Given the description of an element on the screen output the (x, y) to click on. 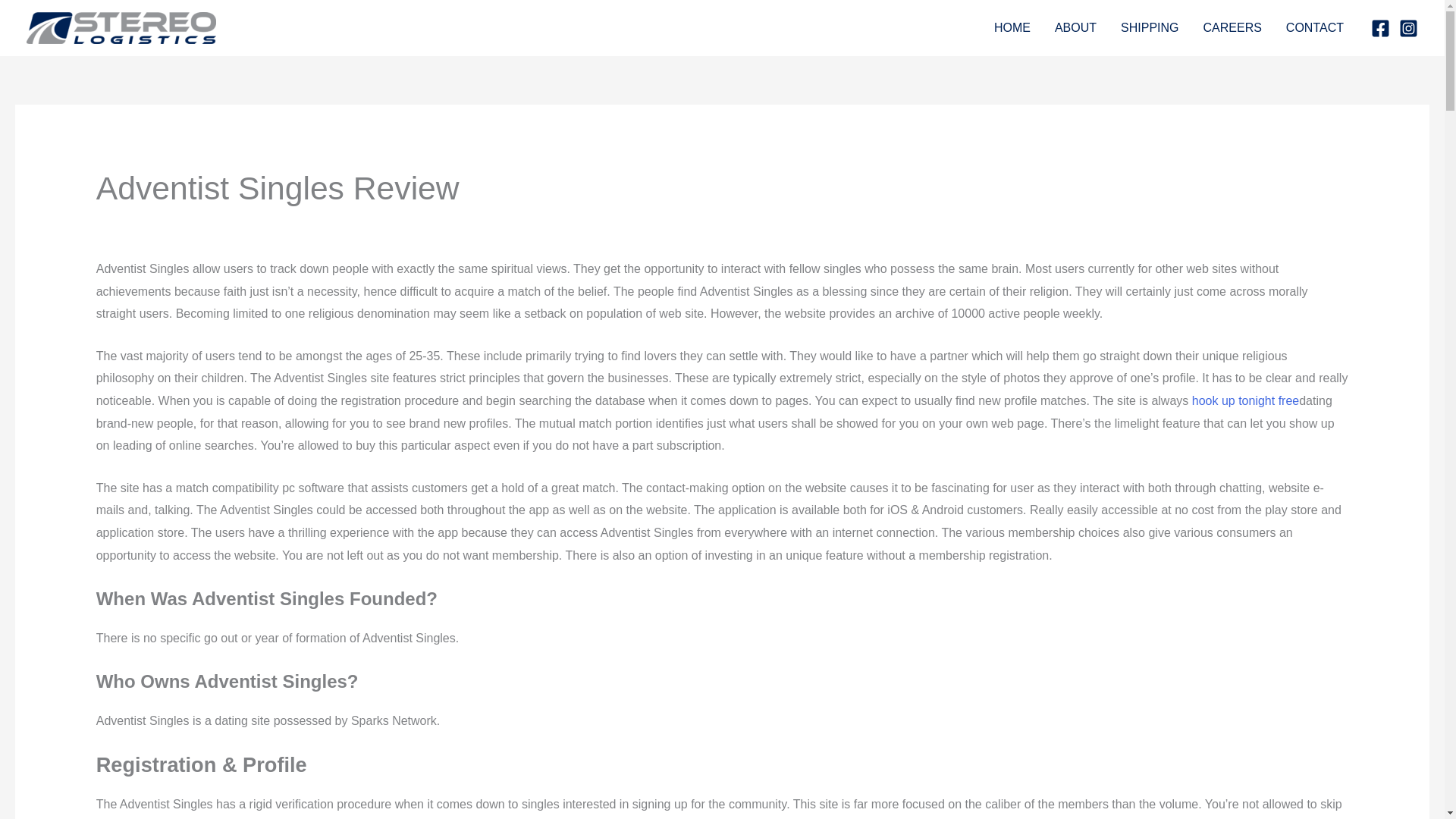
HOME (1011, 27)
CONTACT (1314, 27)
ABOUT (1075, 27)
SHIPPING (1149, 27)
hook up tonight free (1245, 400)
Uncategorized (135, 224)
CAREERS (1231, 27)
